Given the description of an element on the screen output the (x, y) to click on. 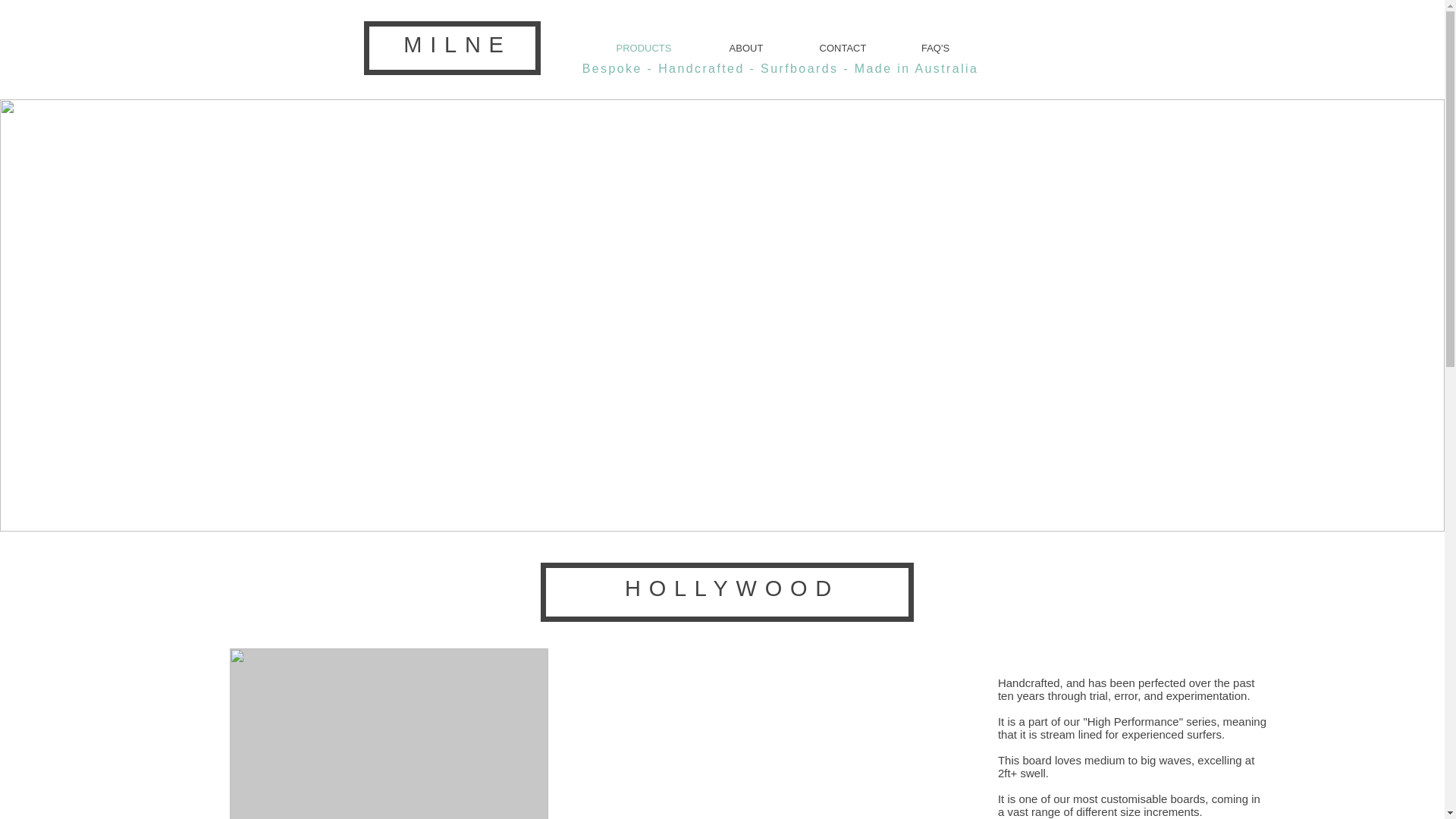
MILNE (457, 44)
PRODUCTS (644, 48)
ABOUT (745, 48)
CONTACT (843, 48)
FAQ'S (935, 48)
HOLLYWOOD (732, 588)
